Given the description of an element on the screen output the (x, y) to click on. 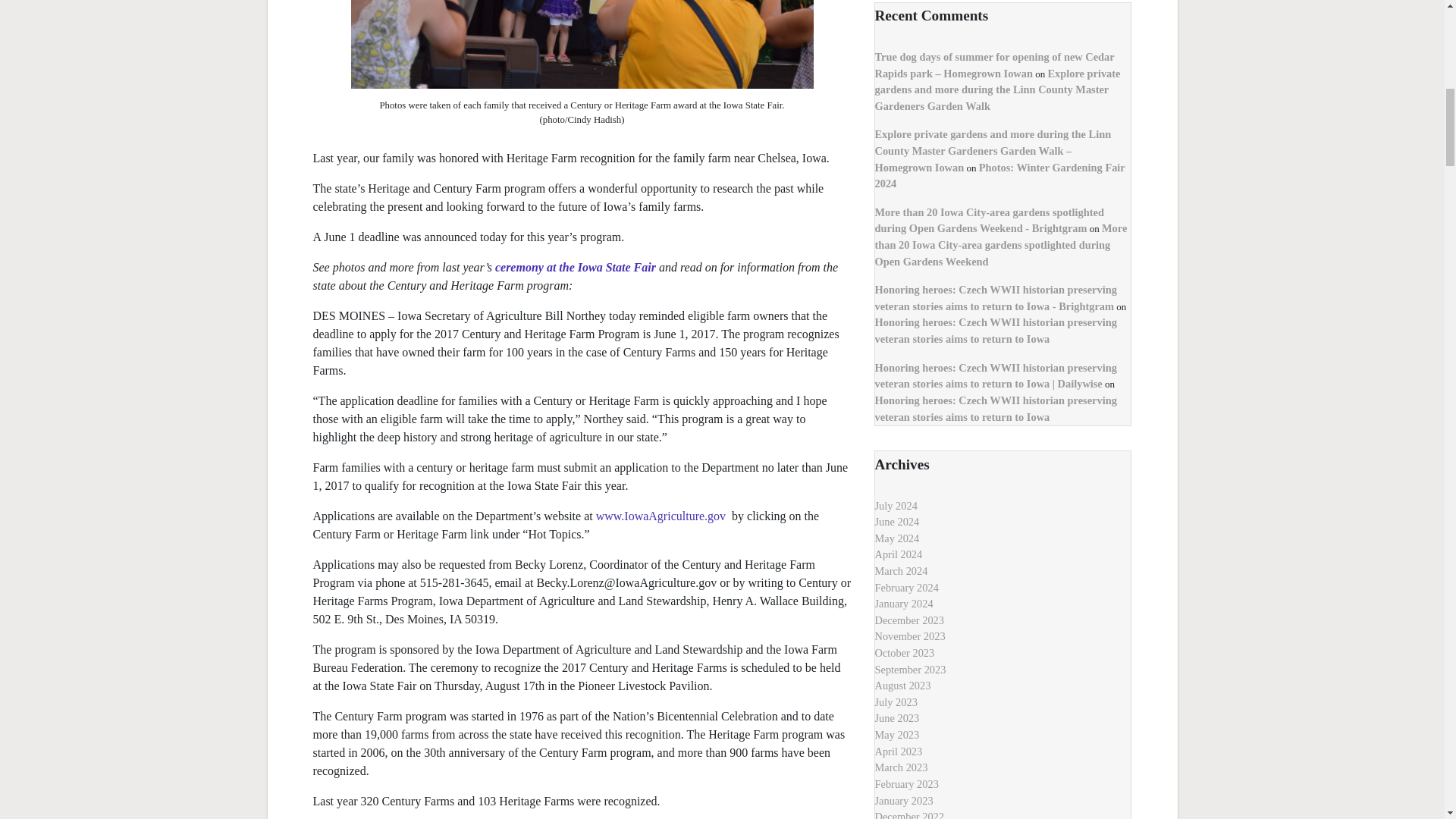
ceremony at the Iowa State Fair (575, 267)
www.IowaAgriculture.gov  (662, 515)
